Given the description of an element on the screen output the (x, y) to click on. 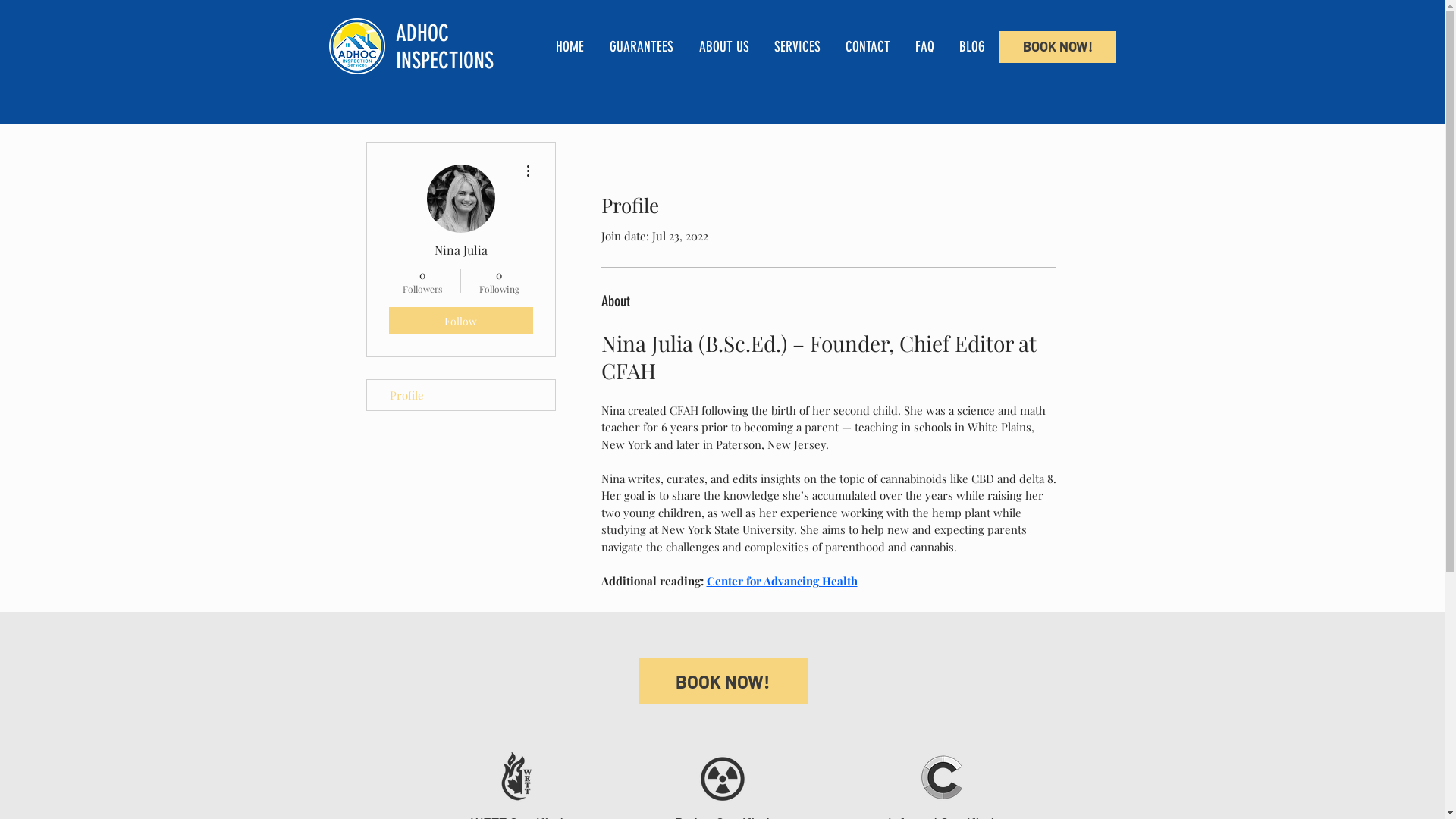
INSPECTIONS Element type: text (444, 60)
0
Following Element type: text (499, 280)
SERVICES Element type: text (798, 46)
Center for Advancing Health Element type: text (781, 580)
GUARANTEES Element type: text (642, 46)
Follow Element type: text (460, 320)
BOOK NOW! Element type: text (722, 680)
0
Followers Element type: text (421, 280)
ABOUT US Element type: text (724, 46)
ADHOC Element type: text (421, 33)
BLOG Element type: text (972, 46)
HOME Element type: text (571, 46)
CONTACT Element type: text (868, 46)
FAQ Element type: text (925, 46)
BOOK NOW! Element type: text (1057, 46)
Profile Element type: text (461, 394)
